Given the description of an element on the screen output the (x, y) to click on. 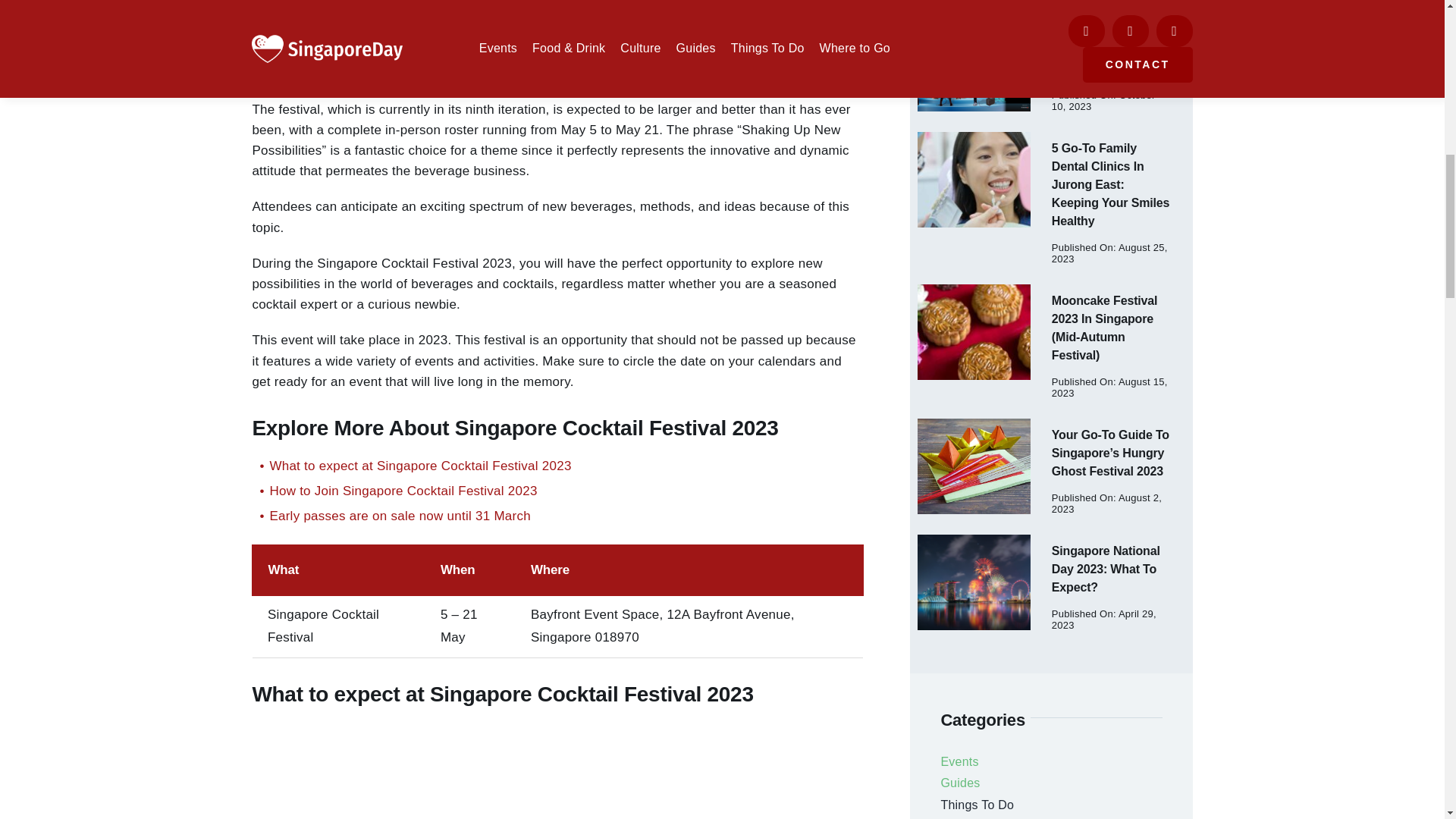
What to expect at Singapore Cocktail Festival 2023 (557, 466)
How to Join Singapore Cocktail Festival 2023 (557, 491)
Singapore-Cocktail-Festival-schedule (557, 769)
Early passes are on sale now until 31 March (557, 516)
